Given the description of an element on the screen output the (x, y) to click on. 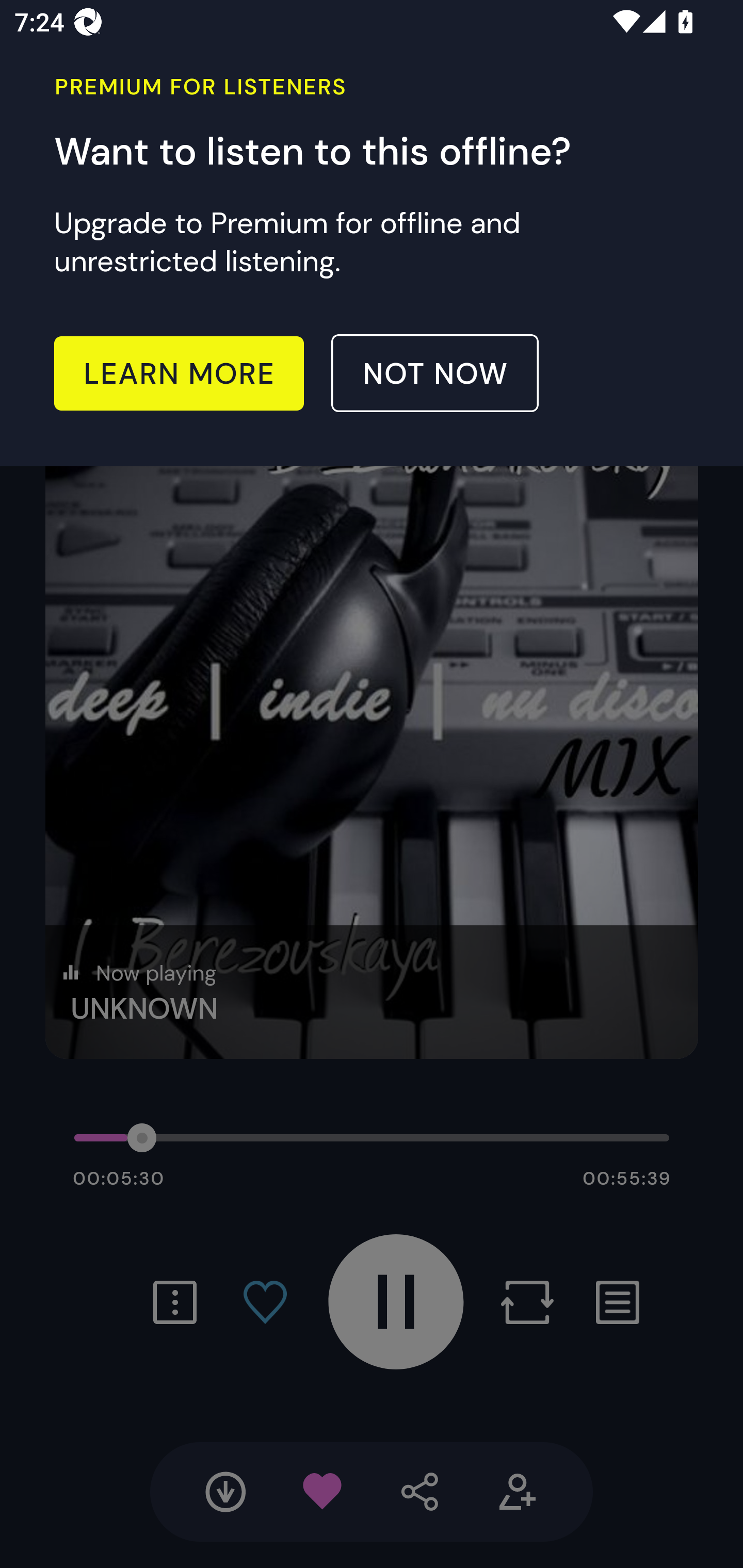
Not Now NOT NOW (434, 372)
LEARN MORE (178, 372)
Repost button (527, 1301)
